Given the description of an element on the screen output the (x, y) to click on. 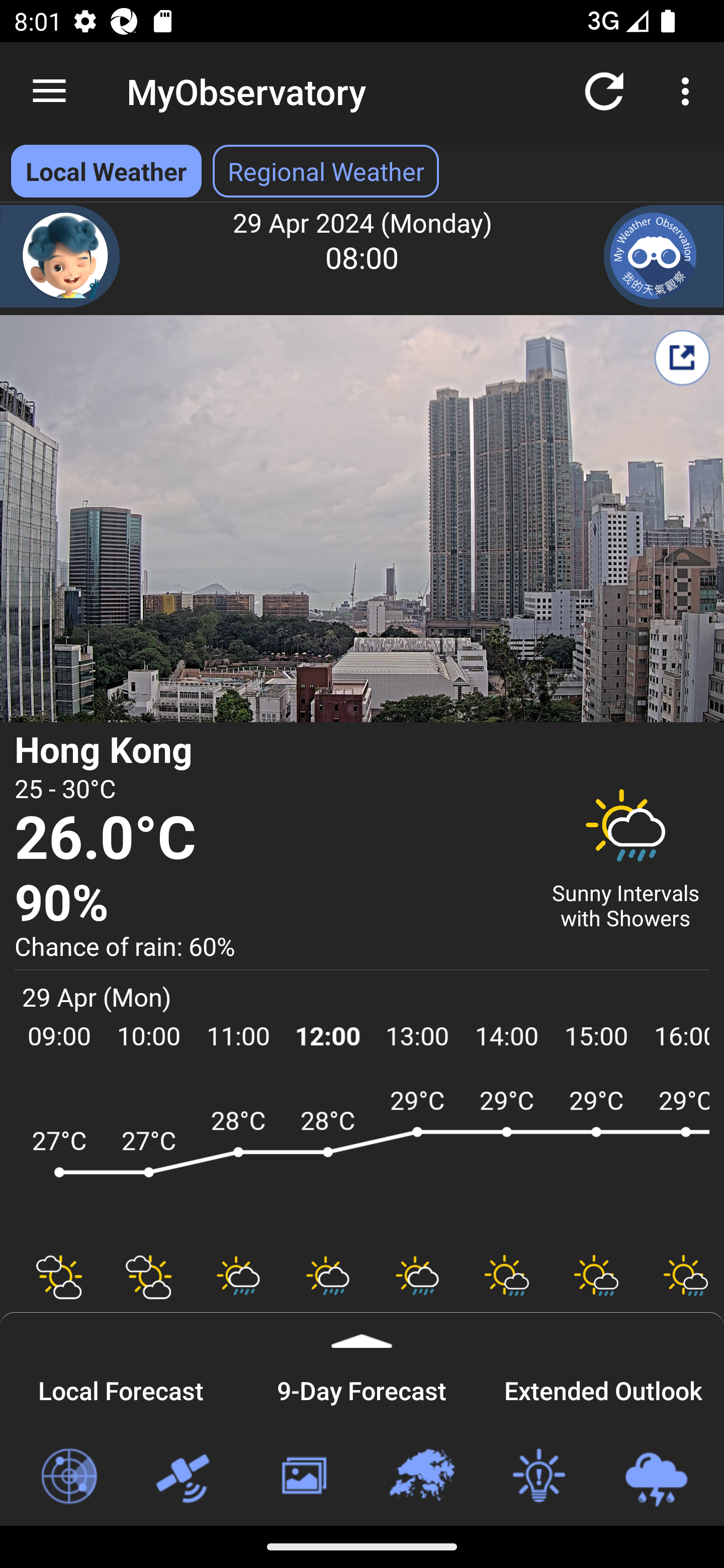
Navigate up (49, 91)
Refresh (604, 90)
More options (688, 90)
Local Weather Local Weather selected (105, 170)
Regional Weather Select Regional Weather (325, 170)
Chatbot (60, 256)
My Weather Observation (663, 256)
Share My Weather Report (681, 357)
26.0°C Temperature
26.0 degree Celsius (270, 839)
90% Relative Humidity
90 percent (270, 903)
ARWF (361, 1160)
Expand (362, 1330)
Local Forecast (120, 1387)
Extended Outlook (603, 1387)
Radar Images (68, 1476)
Satellite Images (185, 1476)
Weather Photos (302, 1476)
Regional Weather (420, 1476)
Weather Tips (537, 1476)
Loc-based Rain & Lightning Forecast (655, 1476)
